Given the description of an element on the screen output the (x, y) to click on. 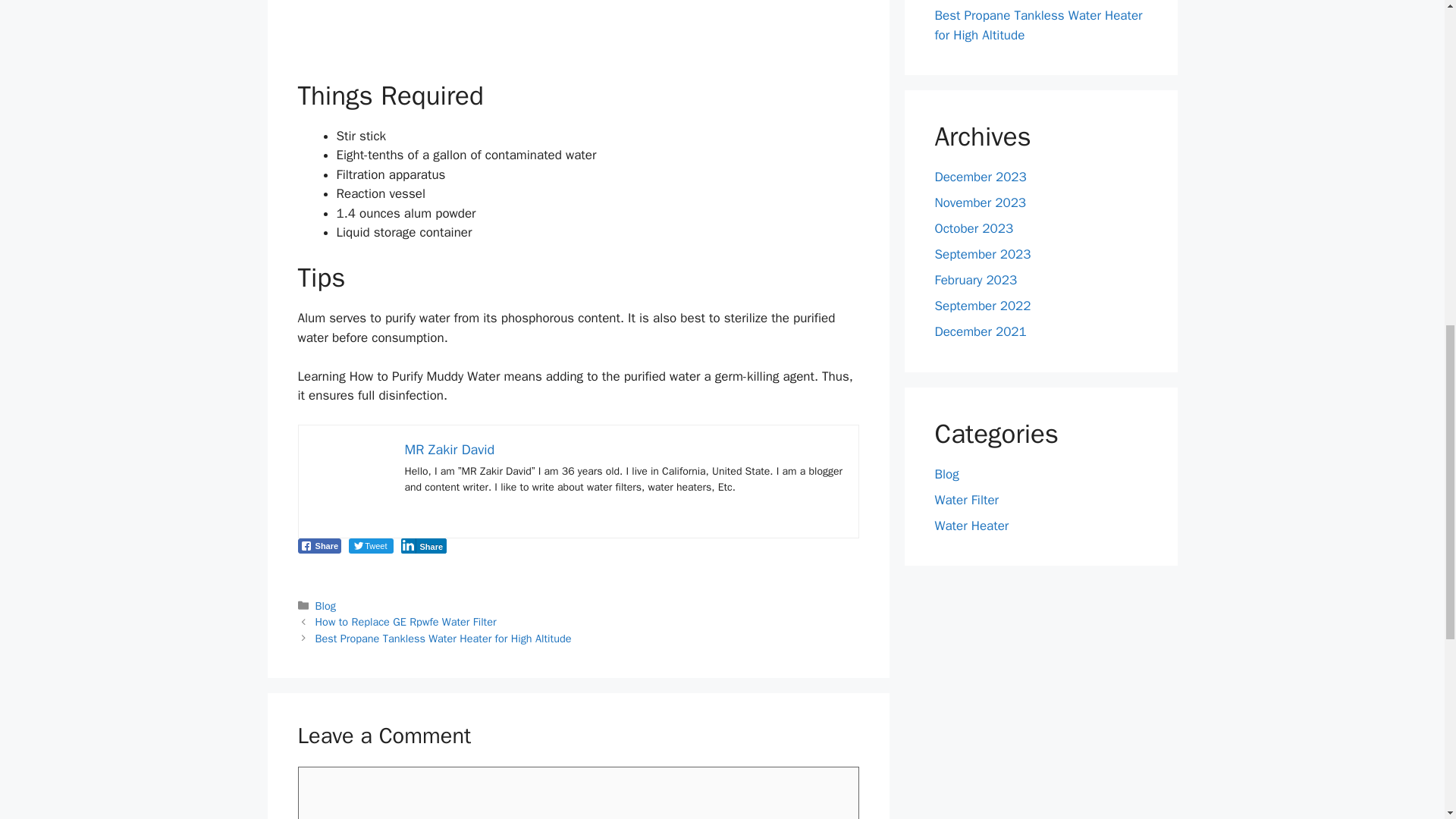
Blog (946, 473)
Share (318, 545)
November 2023 (980, 202)
September 2022 (982, 305)
October 2023 (973, 228)
Best Propane Tankless Water Heater for High Altitude (1037, 25)
Best Propane Tankless Water Heater for High Altitude (443, 638)
Blog (325, 605)
September 2023 (982, 254)
Next (443, 638)
MR Zakir David (449, 449)
Previous (405, 621)
Tweet (371, 545)
How to Replace GE Rpwfe Water Filter (405, 621)
December 2021 (980, 331)
